Given the description of an element on the screen output the (x, y) to click on. 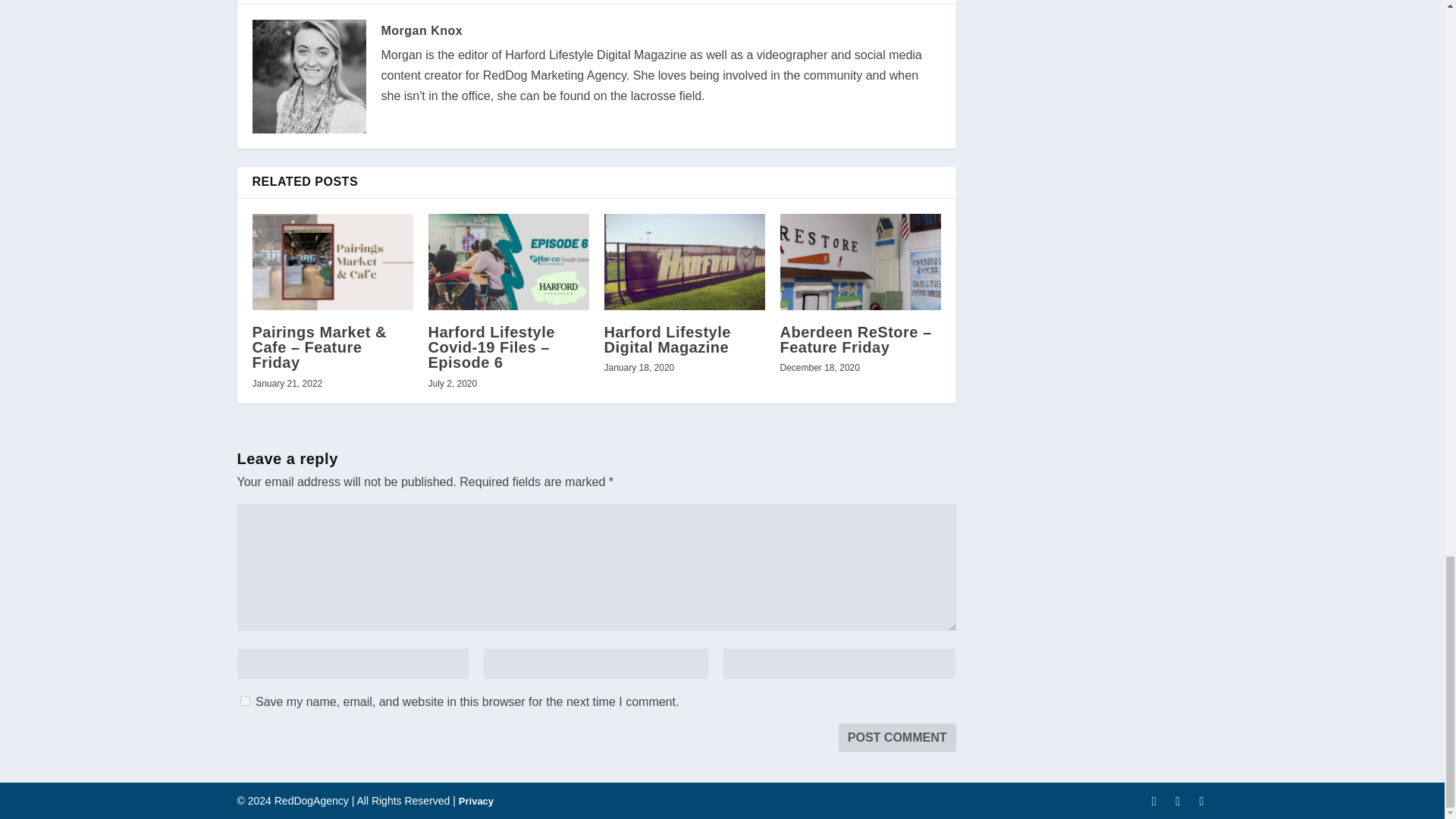
Post Comment (897, 737)
yes (244, 700)
